Given the description of an element on the screen output the (x, y) to click on. 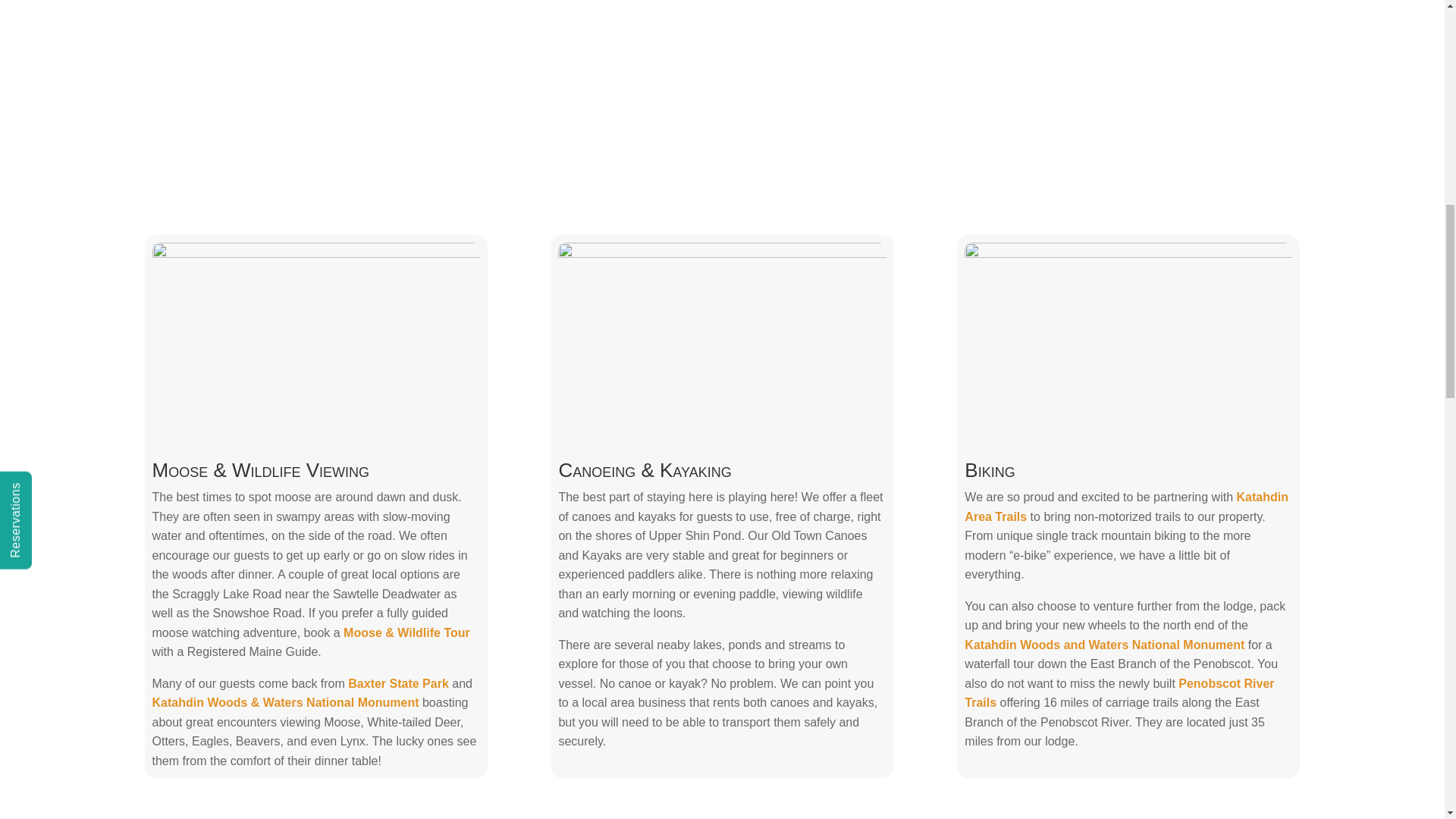
Katahdin Area Trails (1125, 506)
canoe-kayaking-1 (721, 335)
Baxter State Park (397, 683)
Penobscot River Trails (1118, 693)
biking (1127, 335)
Katahdin Woods and Waters National Monument (1103, 644)
